Given the description of an element on the screen output the (x, y) to click on. 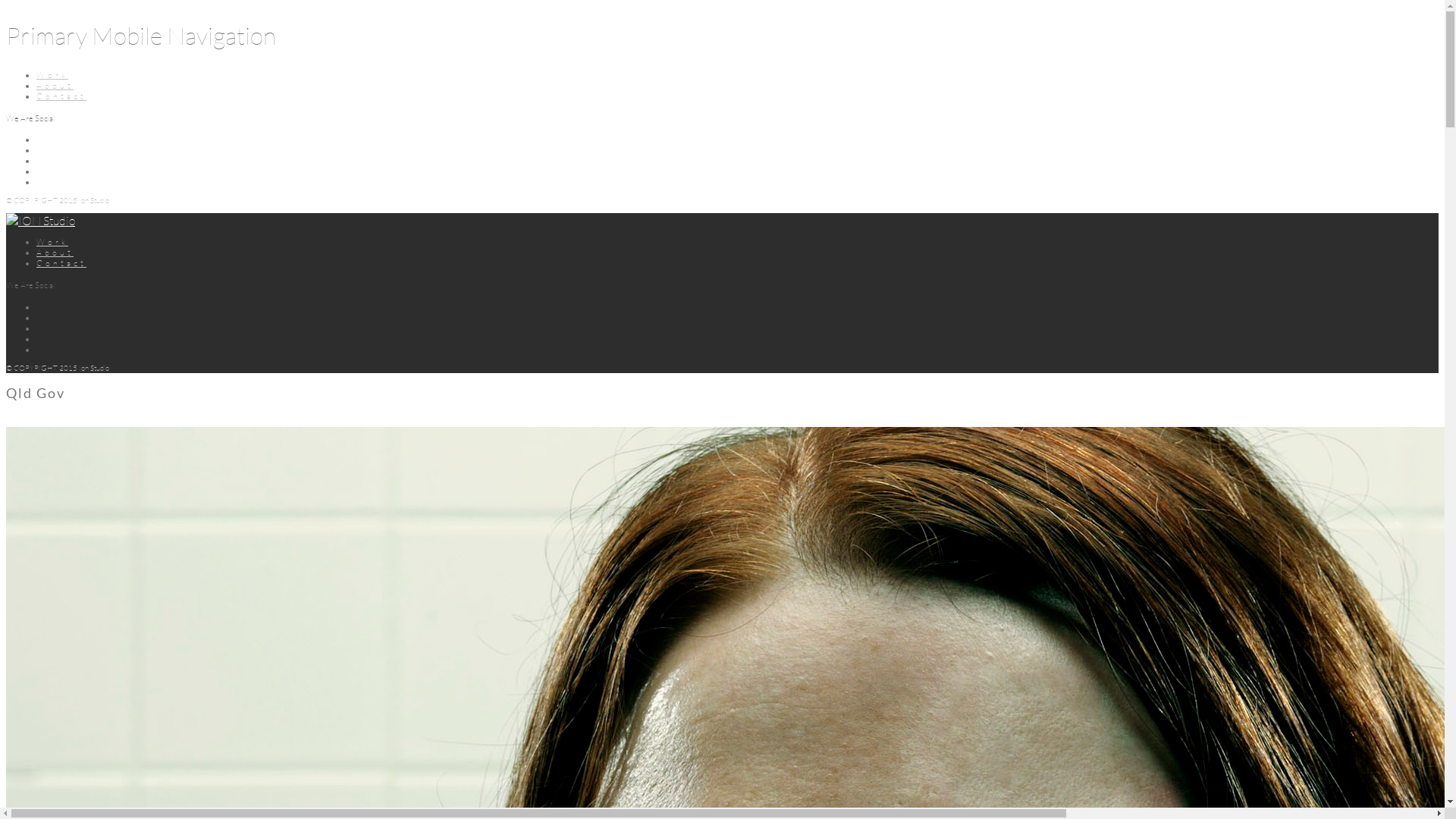
About Element type: text (54, 252)
Contact Element type: text (61, 96)
Work Element type: text (52, 74)
ION Studio Element type: hover (40, 220)
Work Element type: text (52, 241)
About Element type: text (54, 85)
Contact Element type: text (61, 262)
